Given the description of an element on the screen output the (x, y) to click on. 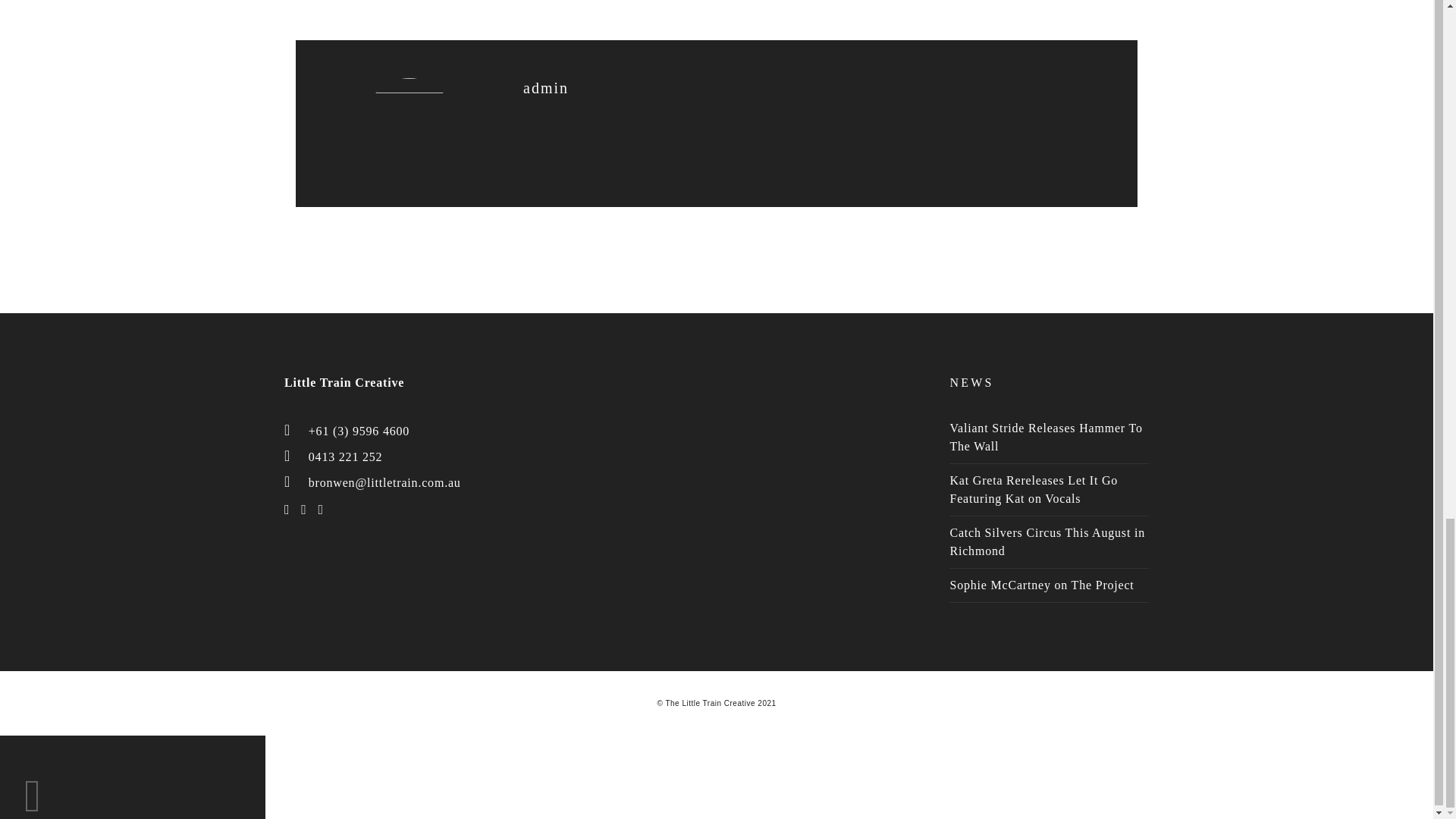
0413 221 252 (345, 456)
Kat Greta Rereleases Let It Go Featuring Kat on Vocals (1033, 489)
Valiant Stride Releases Hammer To The Wall (1045, 436)
Catch Silvers Circus This August in Richmond (1046, 541)
Sophie McCartney on The Project (1041, 584)
